Given the description of an element on the screen output the (x, y) to click on. 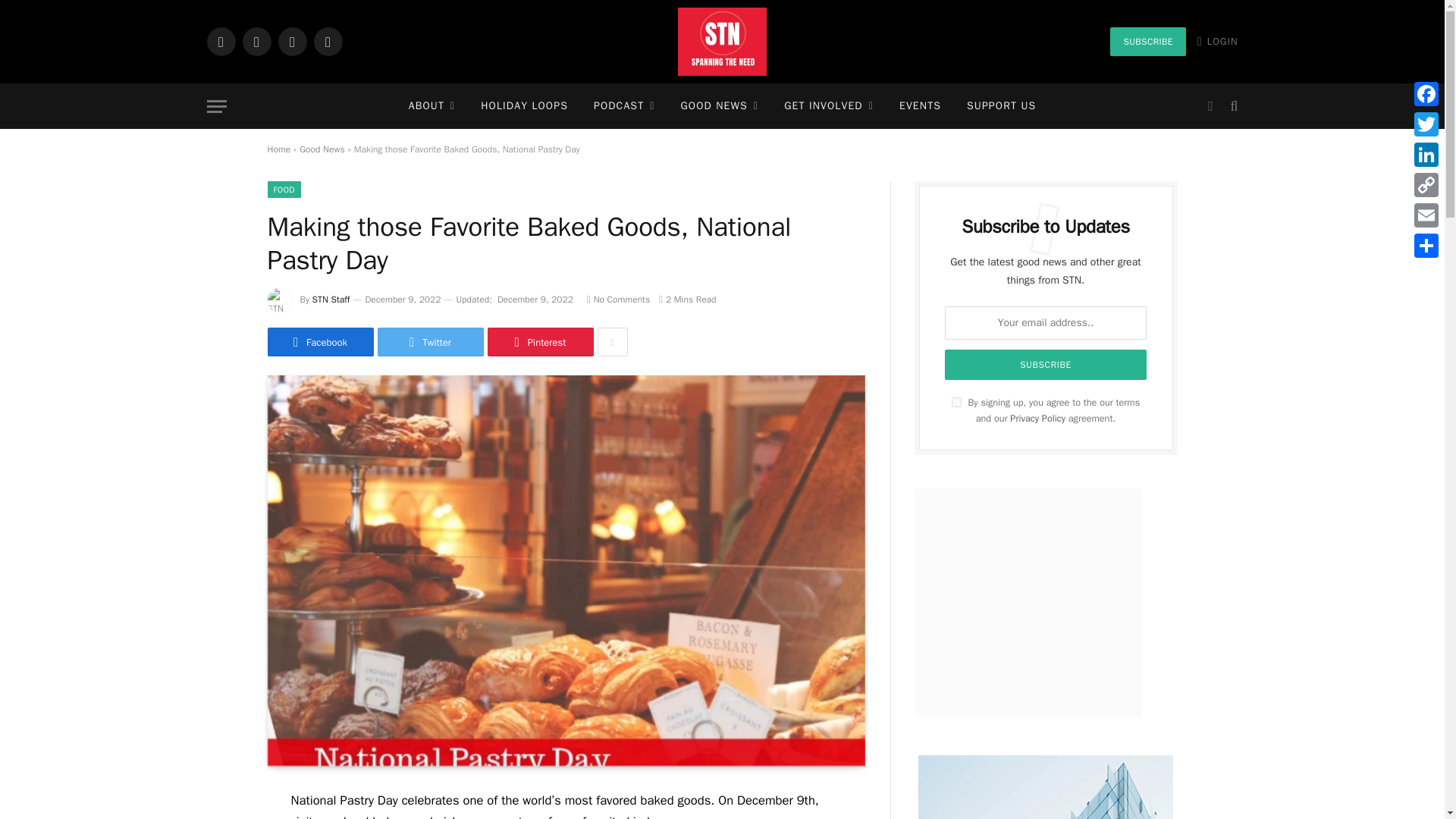
ABOUT (432, 105)
LOGIN (1217, 41)
on (956, 402)
Facebook (220, 41)
LinkedIn (291, 41)
YouTube (328, 41)
SUBSCRIBE (1147, 41)
Subscribe (1045, 364)
Spanning the Need: Good News, Inspiring, the Uninspired. (722, 41)
Instagram (256, 41)
